Given the description of an element on the screen output the (x, y) to click on. 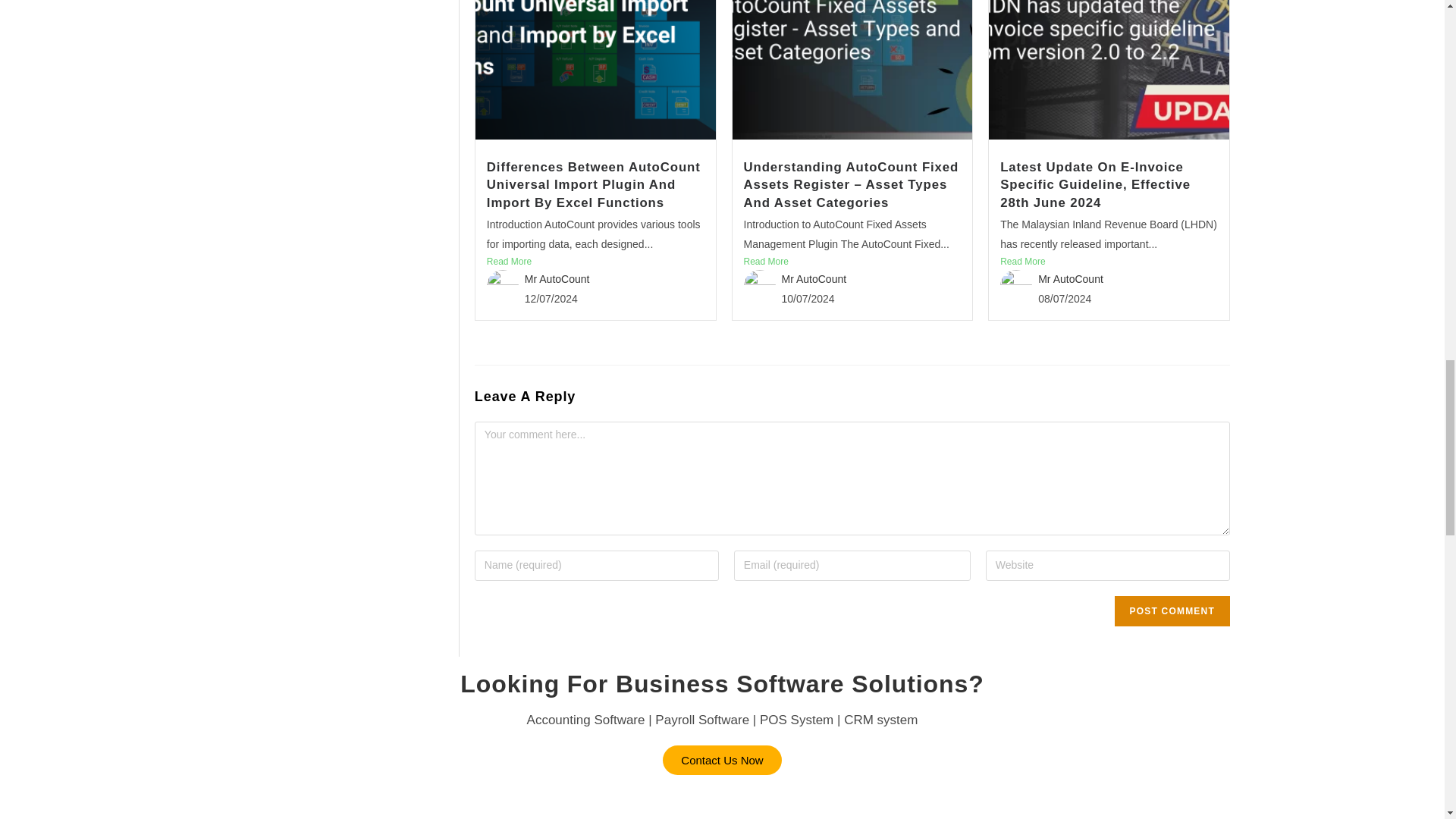
Posts by Mr AutoCount (814, 278)
Post Comment (1172, 611)
Posts by Mr AutoCount (1070, 278)
Posts by Mr AutoCount (556, 278)
